Given the description of an element on the screen output the (x, y) to click on. 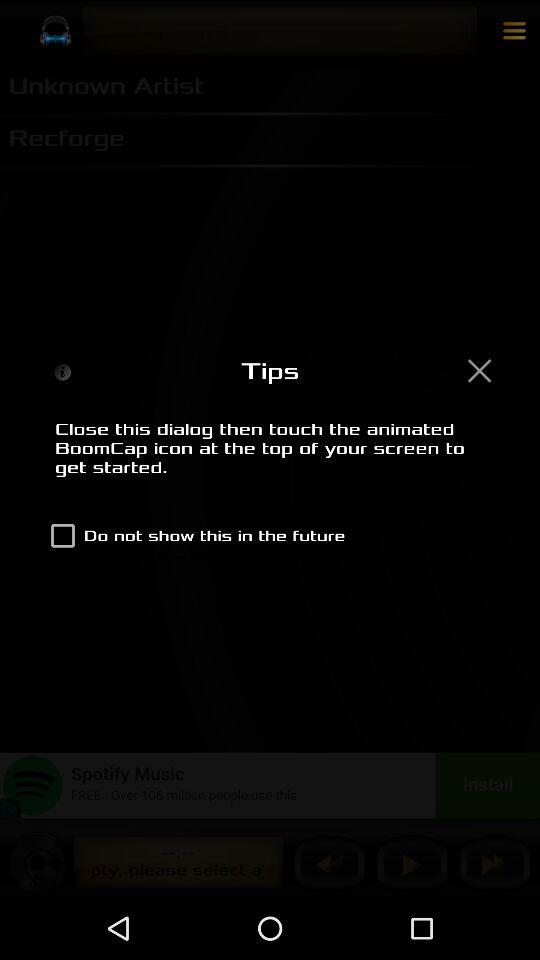
close the dialog (479, 370)
